Given the description of an element on the screen output the (x, y) to click on. 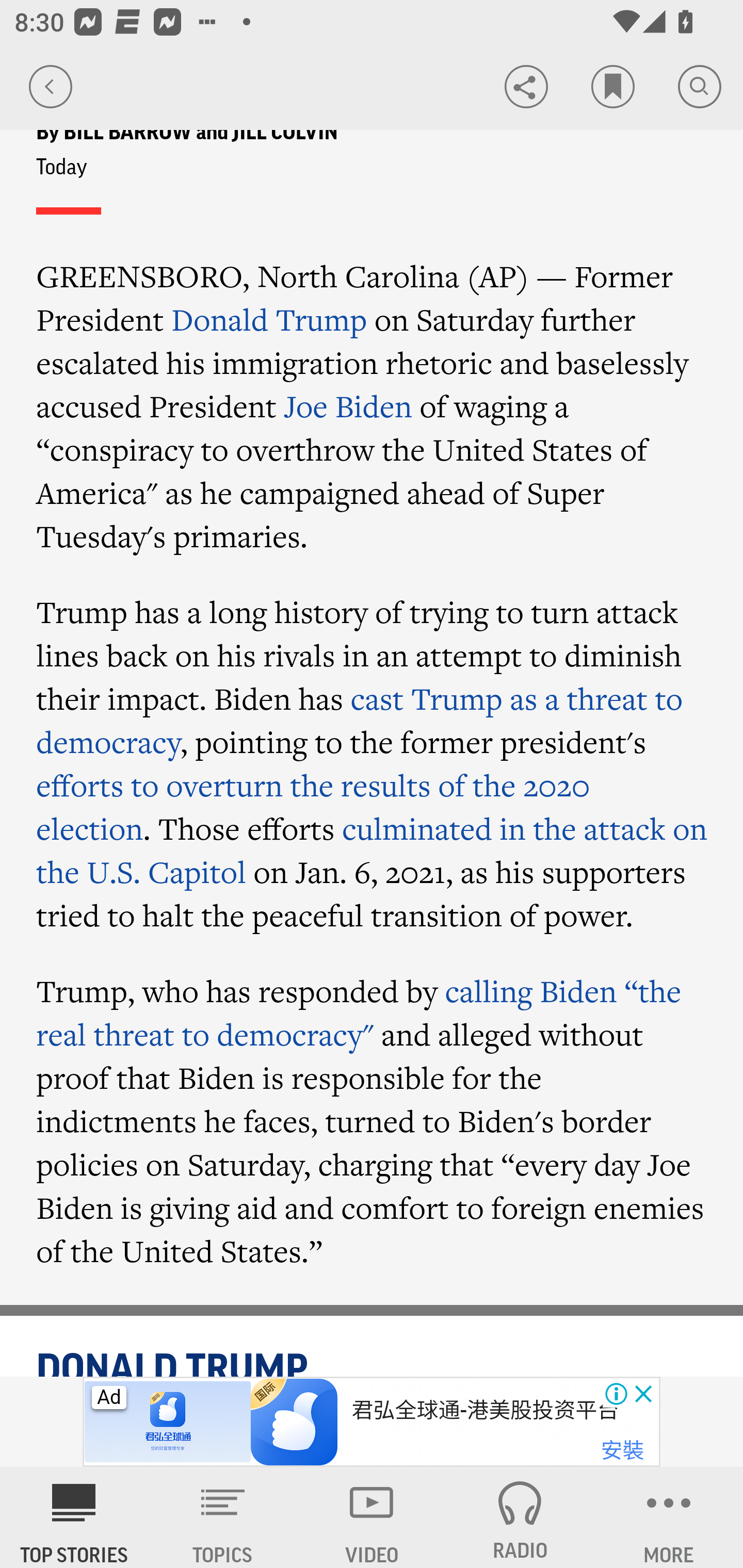
Donald Trump (268, 318)
Joe Biden (348, 406)
cast Trump as a threat to democracy (360, 720)
culminated in the attack on the U.S. Capitol (372, 849)
calling Biden “the real threat to democracy" (359, 1012)
DONALD TRUMP (372, 1361)
BEA Mobile 東亞手機銀行 (473, 1410)
安裝 (621, 1450)
AP News TOP STORIES (74, 1517)
TOPICS (222, 1517)
VIDEO (371, 1517)
RADIO (519, 1517)
MORE (668, 1517)
